Given the description of an element on the screen output the (x, y) to click on. 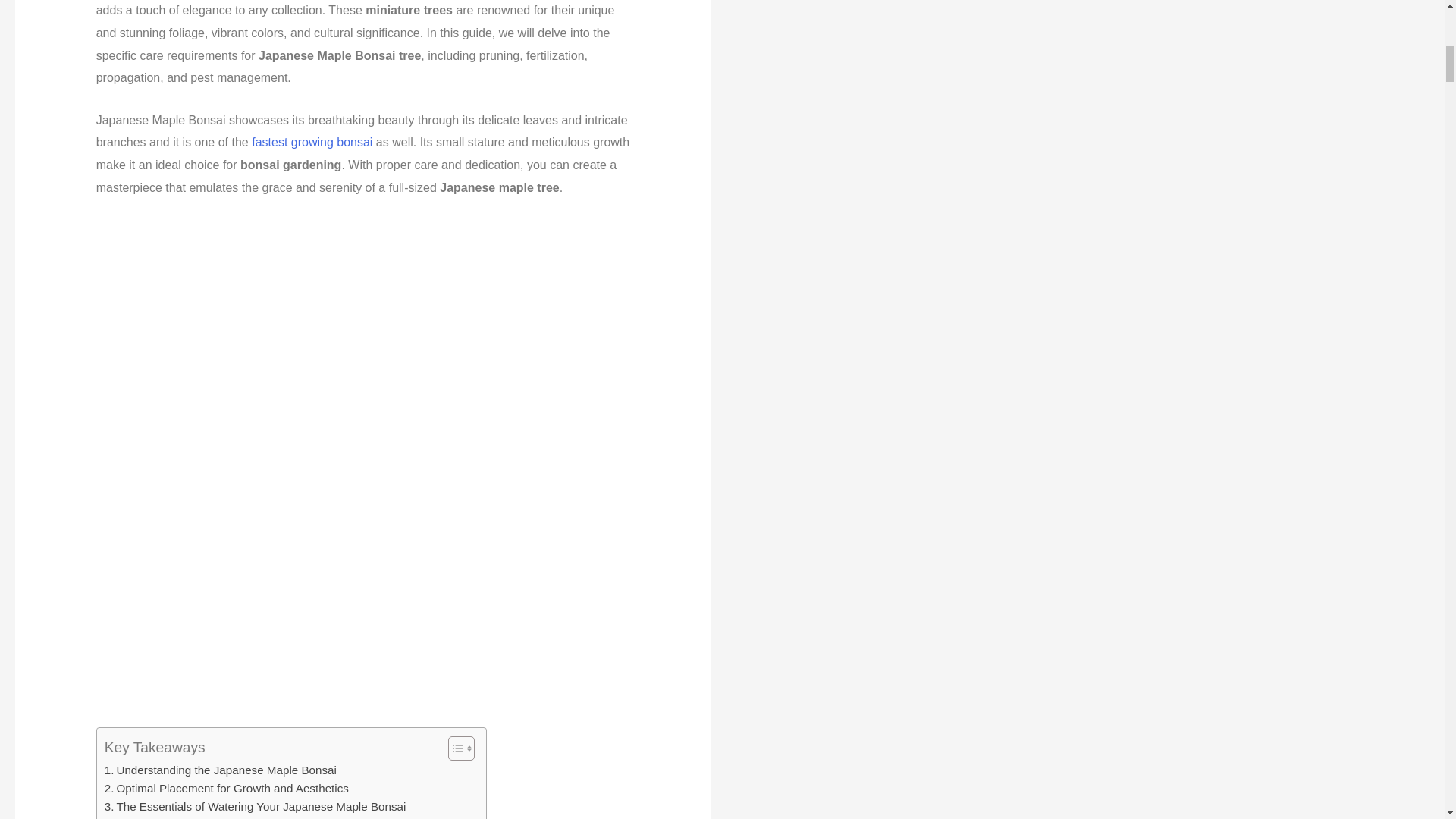
Optimal Placement for Growth and Aesthetics (226, 788)
Understanding the Japanese Maple Bonsai (220, 770)
fastest growing bonsai (311, 141)
Fertilization Strategies for a Thriving Bonsai (221, 817)
Understanding the Japanese Maple Bonsai (220, 770)
The Essentials of Watering Your Japanese Maple Bonsai (255, 806)
The Essentials of Watering Your Japanese Maple Bonsai (255, 806)
Optimal Placement for Growth and Aesthetics (226, 788)
Fertilization Strategies for a Thriving Bonsai (221, 817)
